Given the description of an element on the screen output the (x, y) to click on. 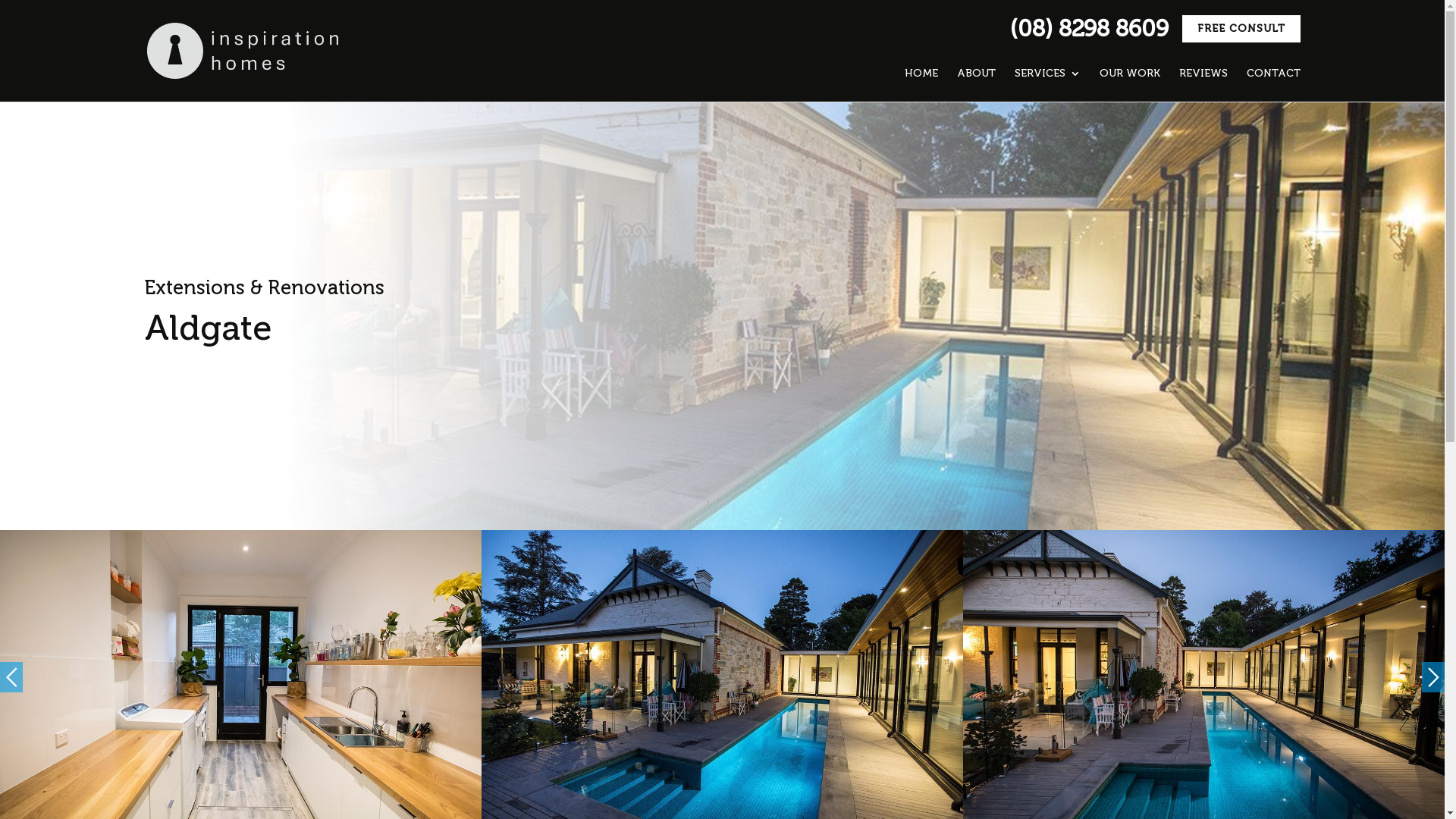
CONTACT Element type: text (1273, 73)
OUR WORK Element type: text (1129, 73)
ABOUT Element type: text (976, 73)
SERVICES Element type: text (1047, 73)
REVIEWS Element type: text (1202, 73)
Next Element type: text (1432, 677)
HOME Element type: text (920, 73)
Previous Element type: text (11, 677)
FREE CONSULT Element type: text (1240, 28)
(08) 8298 8609 Element type: text (1089, 28)
